Given the description of an element on the screen output the (x, y) to click on. 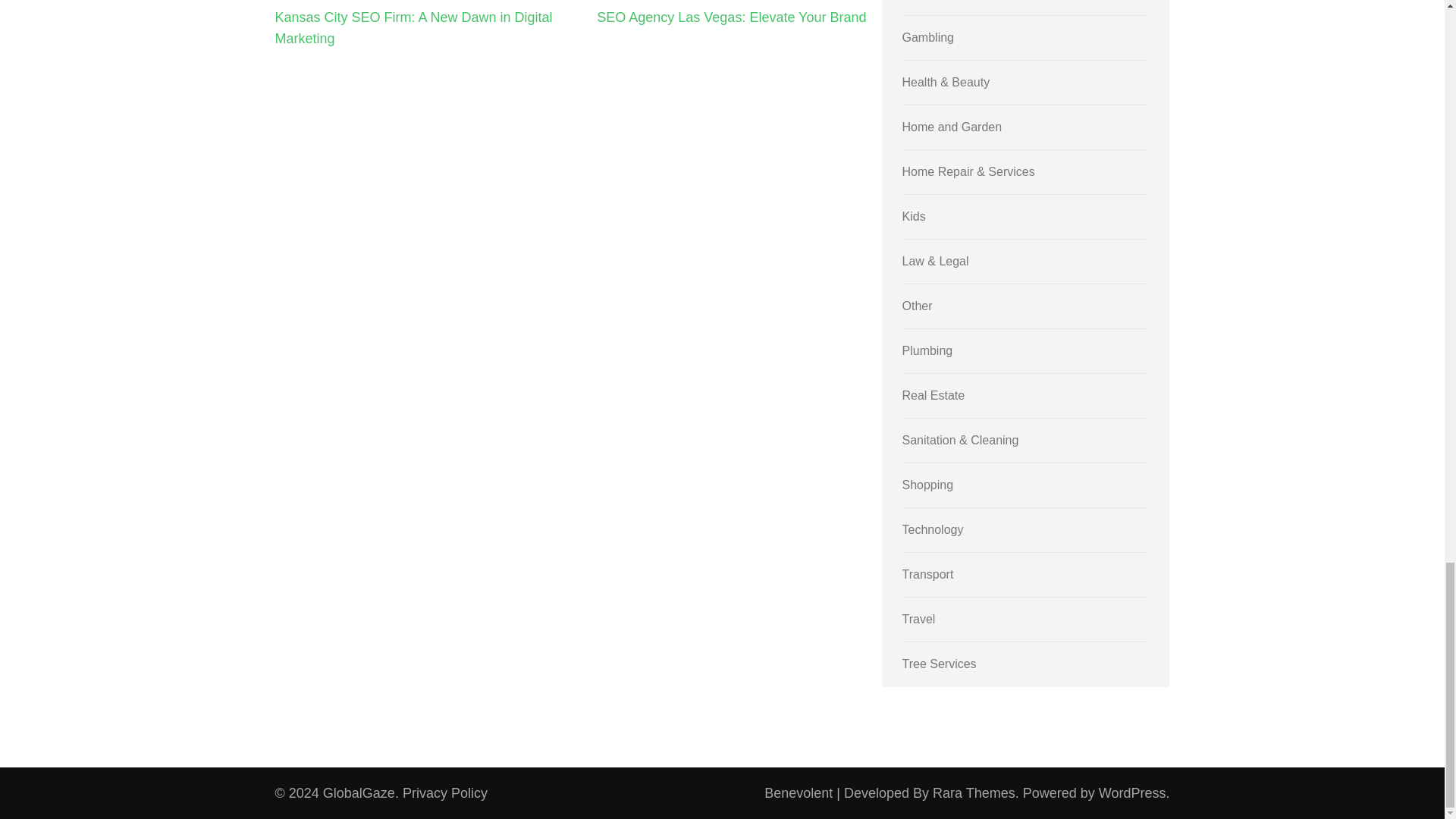
SEO Agency Las Vegas: Elevate Your Brand (731, 17)
Kansas City SEO Firm: A New Dawn in Digital Marketing (413, 27)
